Given the description of an element on the screen output the (x, y) to click on. 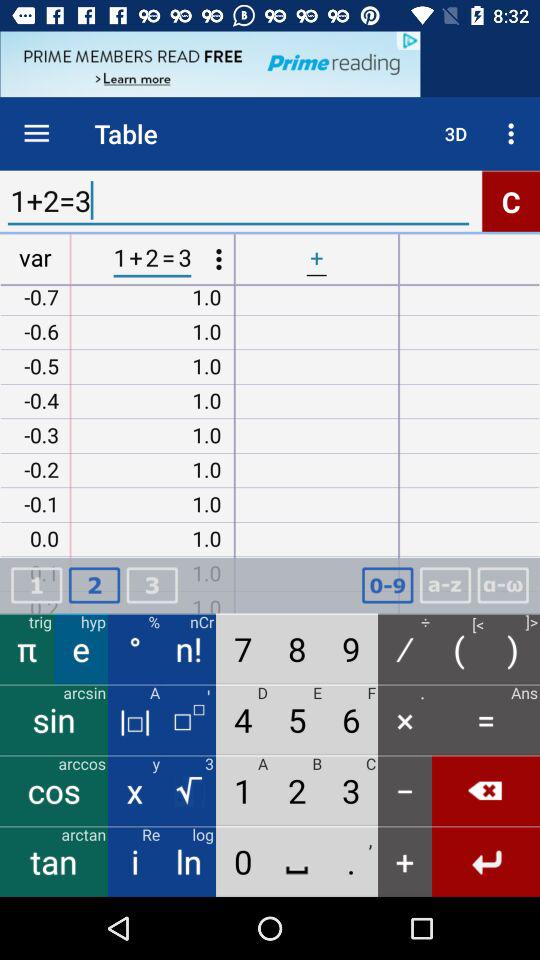
selection button (503, 585)
